Given the description of an element on the screen output the (x, y) to click on. 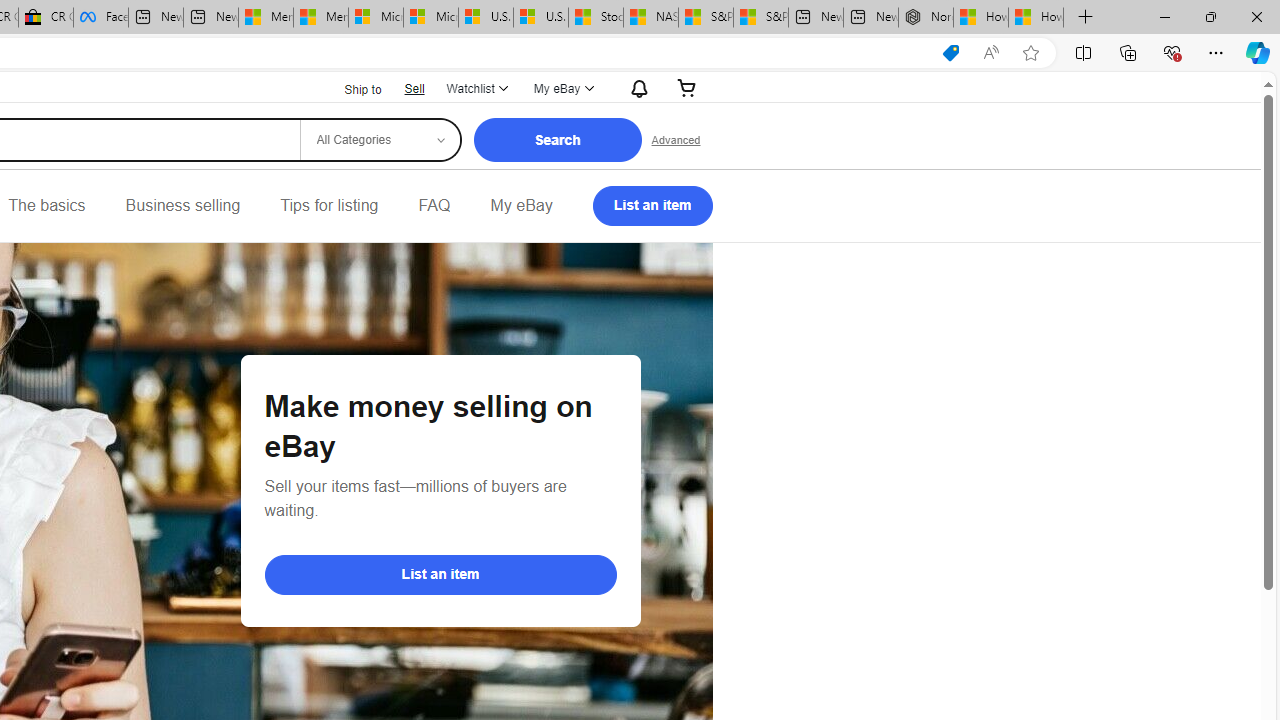
AutomationID: gh-eb-Alerts (636, 88)
List an item (439, 574)
Business selling (182, 205)
WatchlistExpand Watch List (476, 88)
My eBayExpand My eBay (562, 88)
Advanced Search (675, 139)
FAQ (434, 205)
Sell (414, 87)
